Given the description of an element on the screen output the (x, y) to click on. 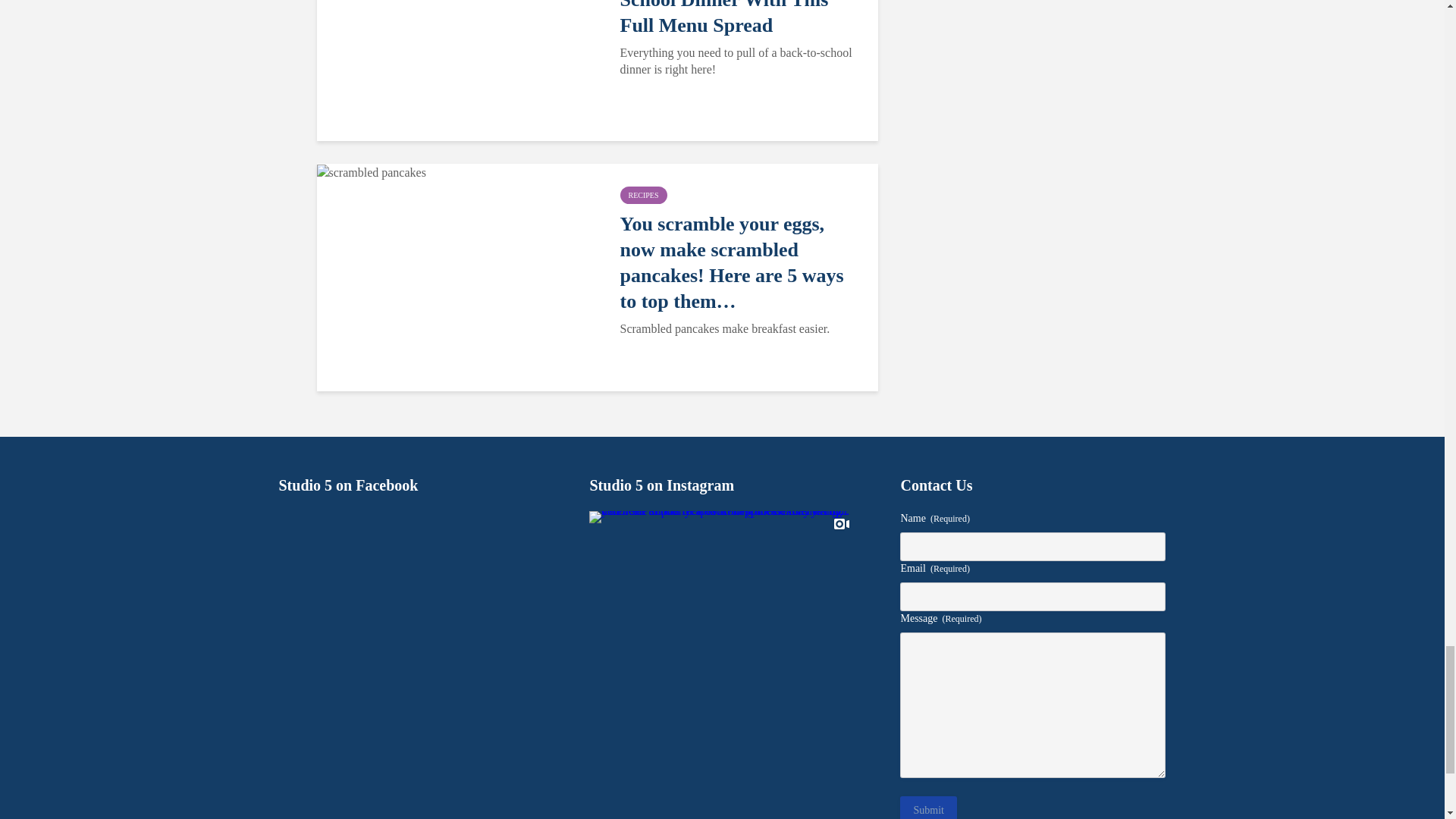
RECIPES (643, 194)
Submit (927, 807)
